Given the description of an element on the screen output the (x, y) to click on. 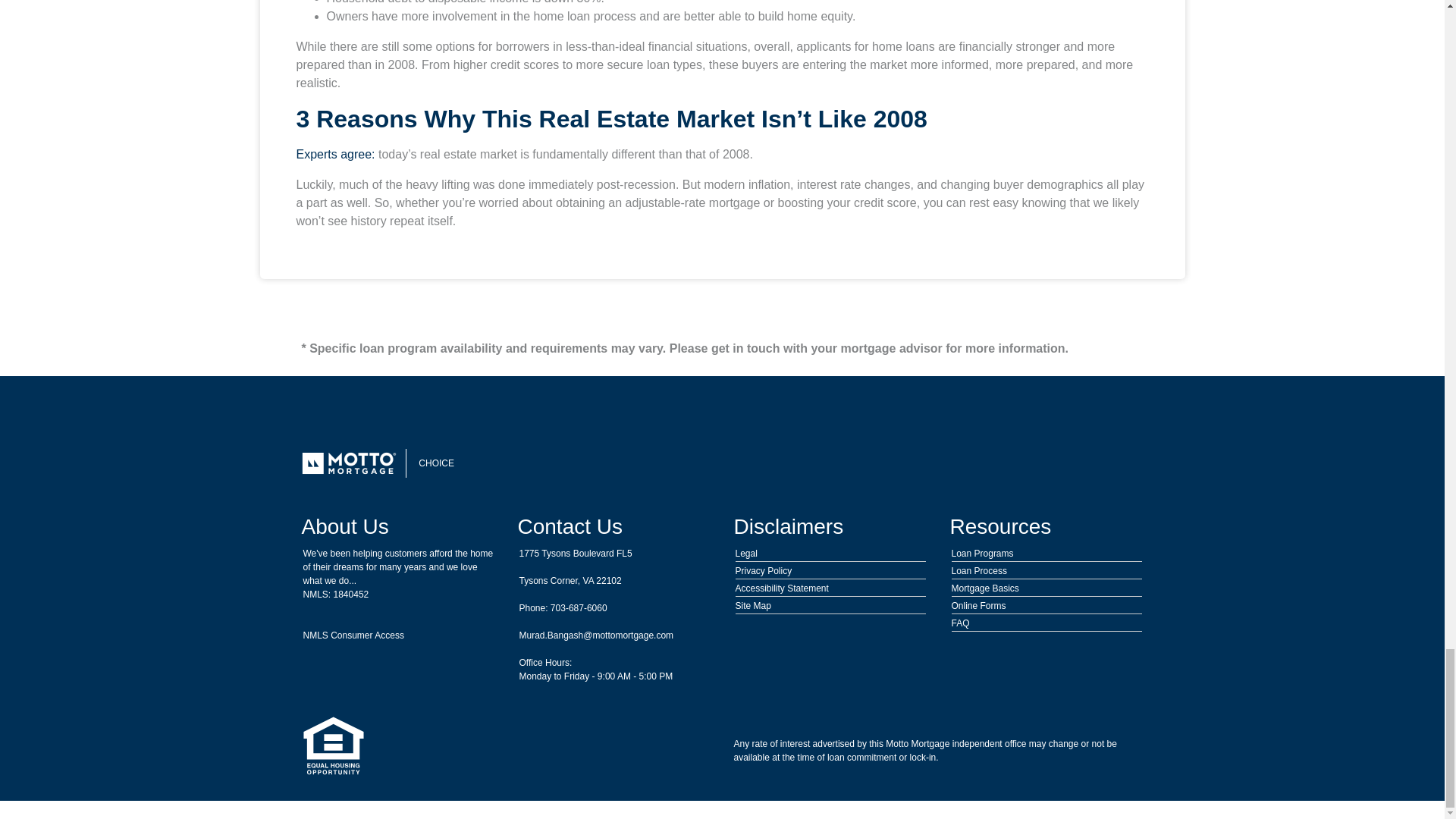
Privacy Policy (763, 570)
Site Map (753, 605)
NMLS Consumer Access (353, 634)
Legal (746, 552)
Mortgage Basics (983, 588)
Loan Process (978, 570)
Accessibility Statement (781, 588)
Experts agree: (334, 154)
Loan Programs (981, 552)
